Given the description of an element on the screen output the (x, y) to click on. 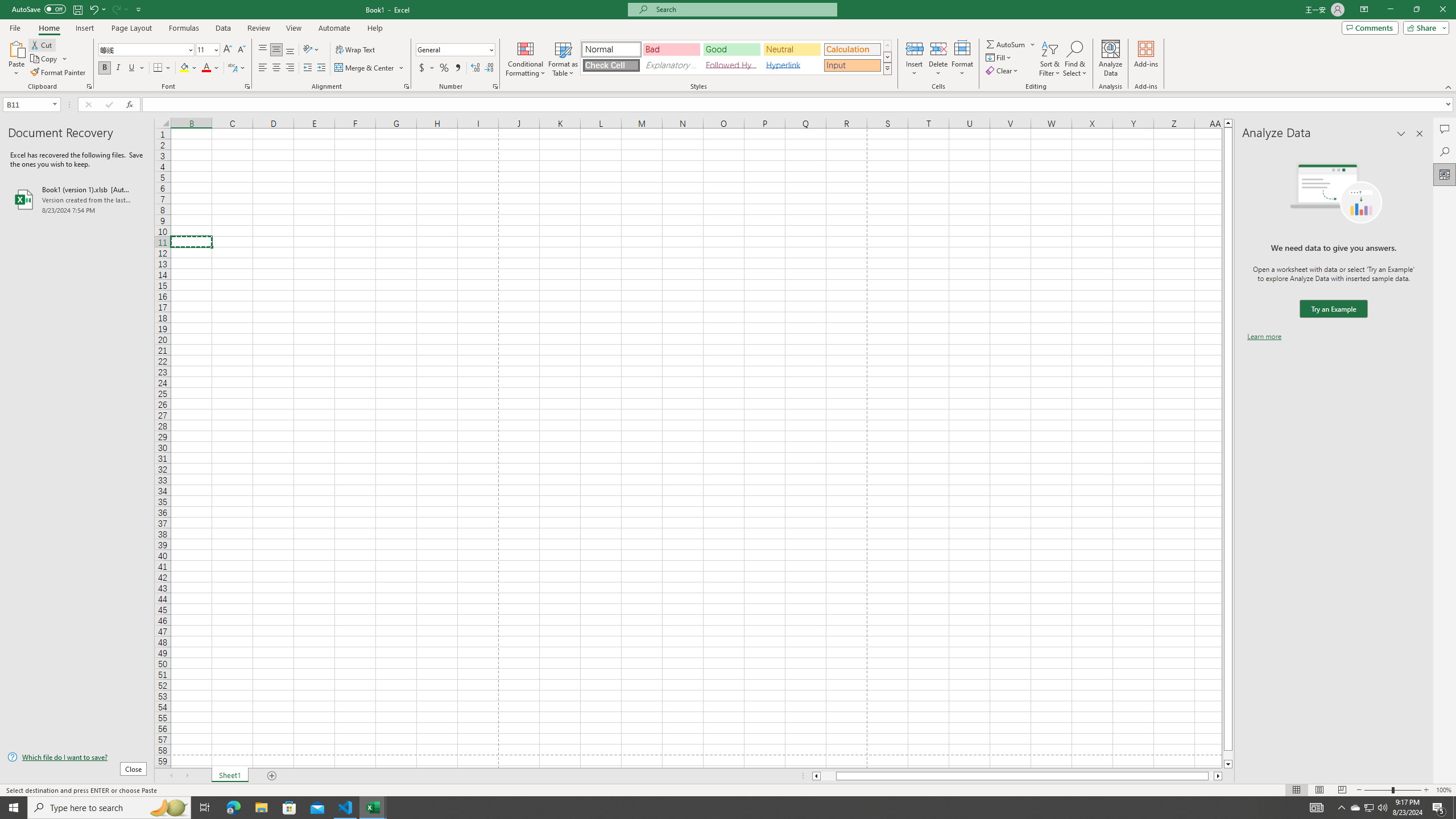
Cut (42, 44)
Middle Align (276, 49)
Underline (131, 67)
Fill (999, 56)
Format Cell Number (494, 85)
Format as Table (563, 58)
AutoSum (1011, 44)
